Given the description of an element on the screen output the (x, y) to click on. 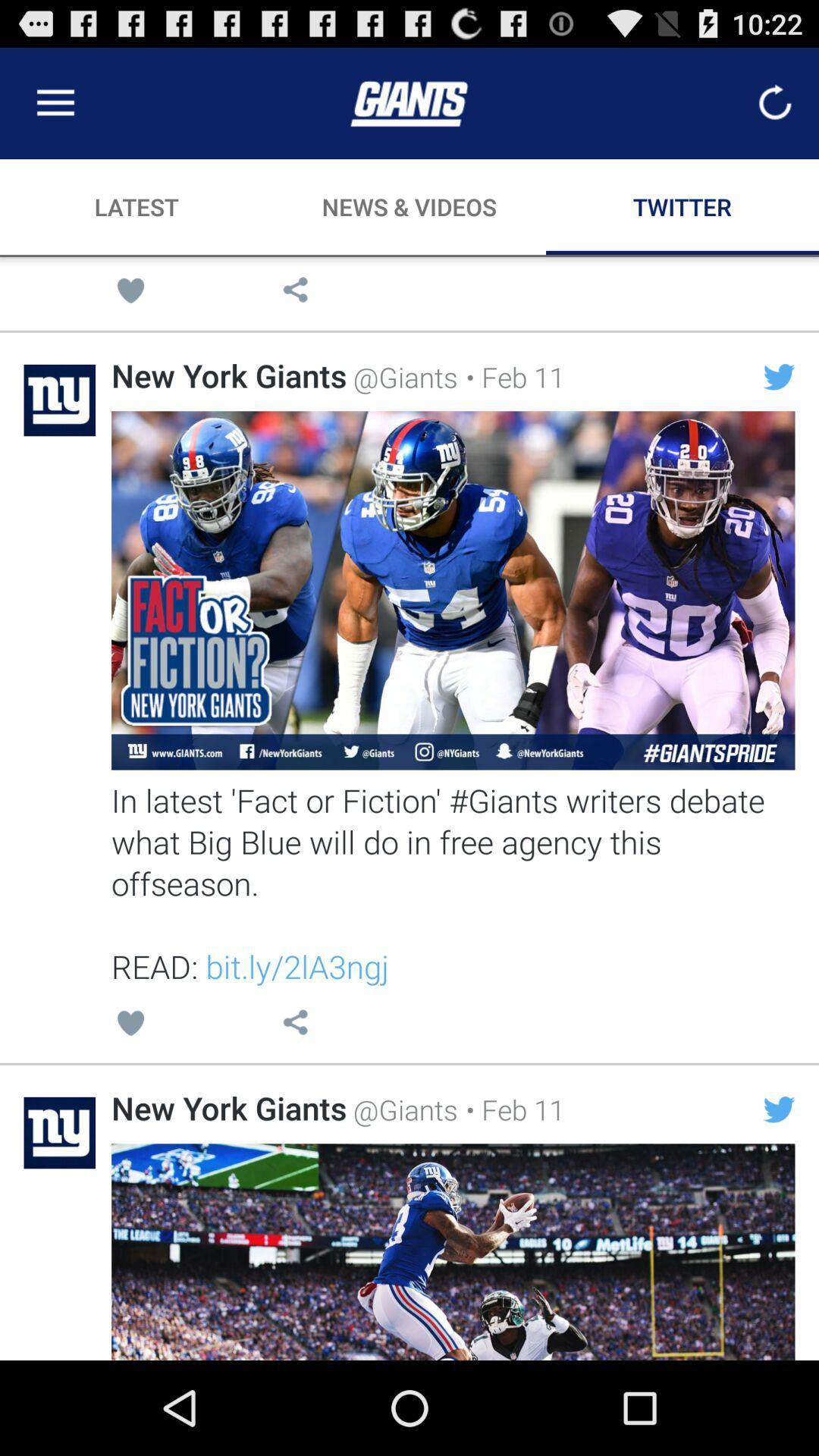
turn on the in latest fact item (453, 882)
